Given the description of an element on the screen output the (x, y) to click on. 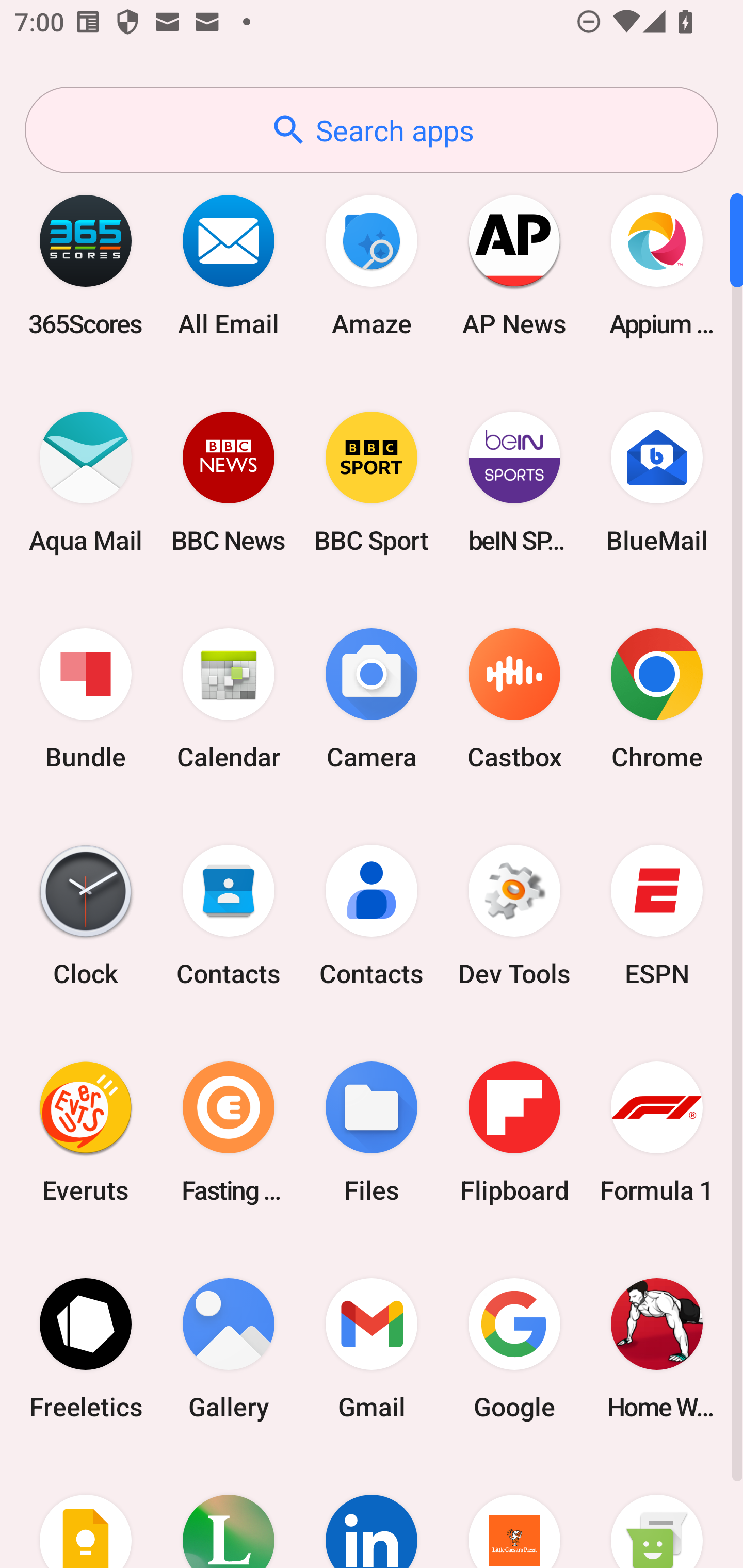
  Search apps (371, 130)
365Scores (85, 264)
All Email (228, 264)
Amaze (371, 264)
AP News (514, 264)
Appium Settings (656, 264)
Aqua Mail (85, 482)
BBC News (228, 482)
BBC Sport (371, 482)
beIN SPORTS (514, 482)
BlueMail (656, 482)
Bundle (85, 699)
Calendar (228, 699)
Camera (371, 699)
Castbox (514, 699)
Chrome (656, 699)
Clock (85, 915)
Contacts (228, 915)
Contacts (371, 915)
Dev Tools (514, 915)
ESPN (656, 915)
Everuts (85, 1131)
Fasting Coach (228, 1131)
Files (371, 1131)
Flipboard (514, 1131)
Formula 1 (656, 1131)
Freeletics (85, 1348)
Gallery (228, 1348)
Gmail (371, 1348)
Google (514, 1348)
Home Workout (656, 1348)
